Given the description of an element on the screen output the (x, y) to click on. 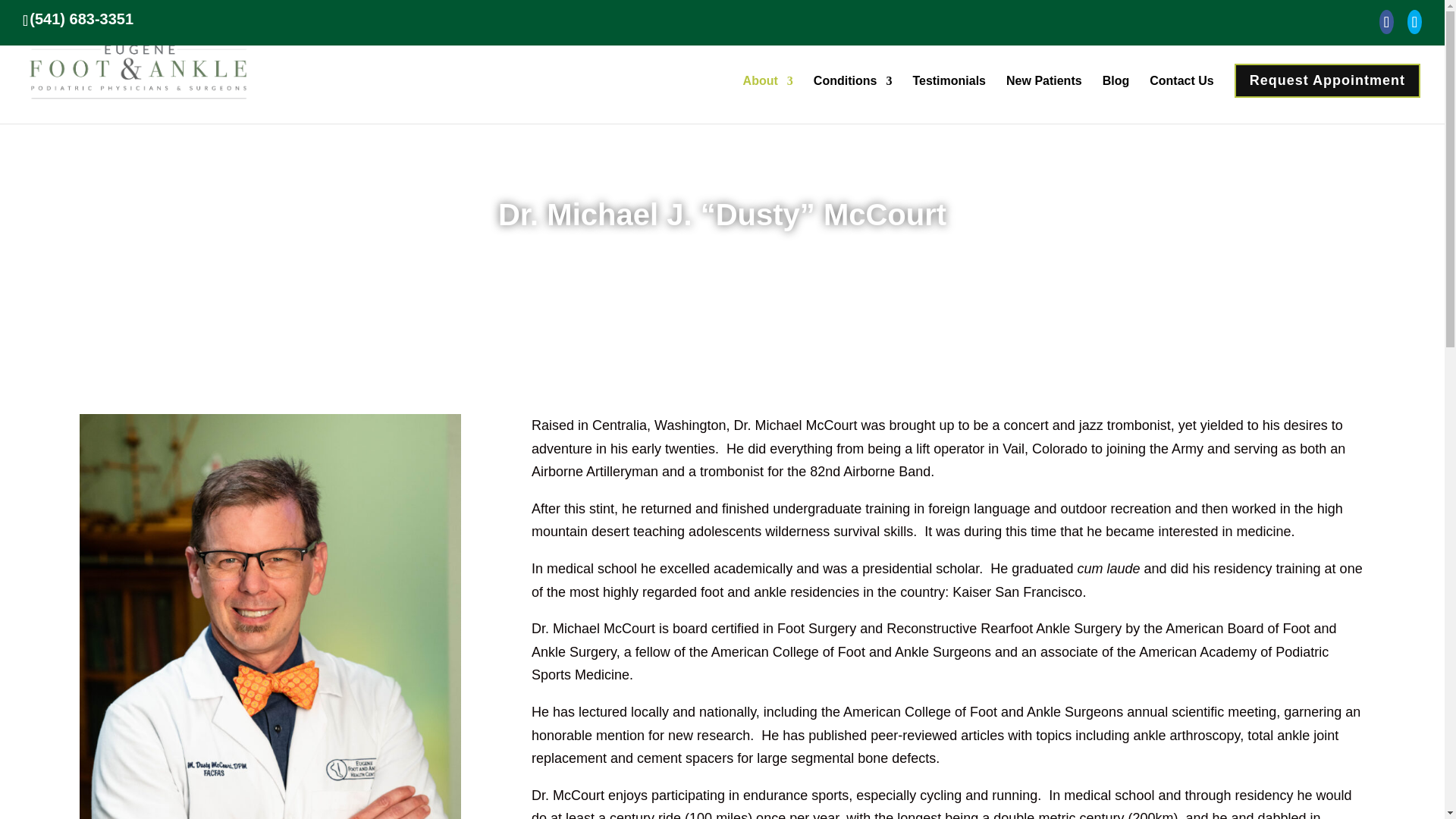
Testimonials (948, 94)
Contact Us (1181, 94)
About (767, 94)
Request Appointment (1327, 85)
New Patients (1043, 94)
Conditions (852, 94)
